Given the description of an element on the screen output the (x, y) to click on. 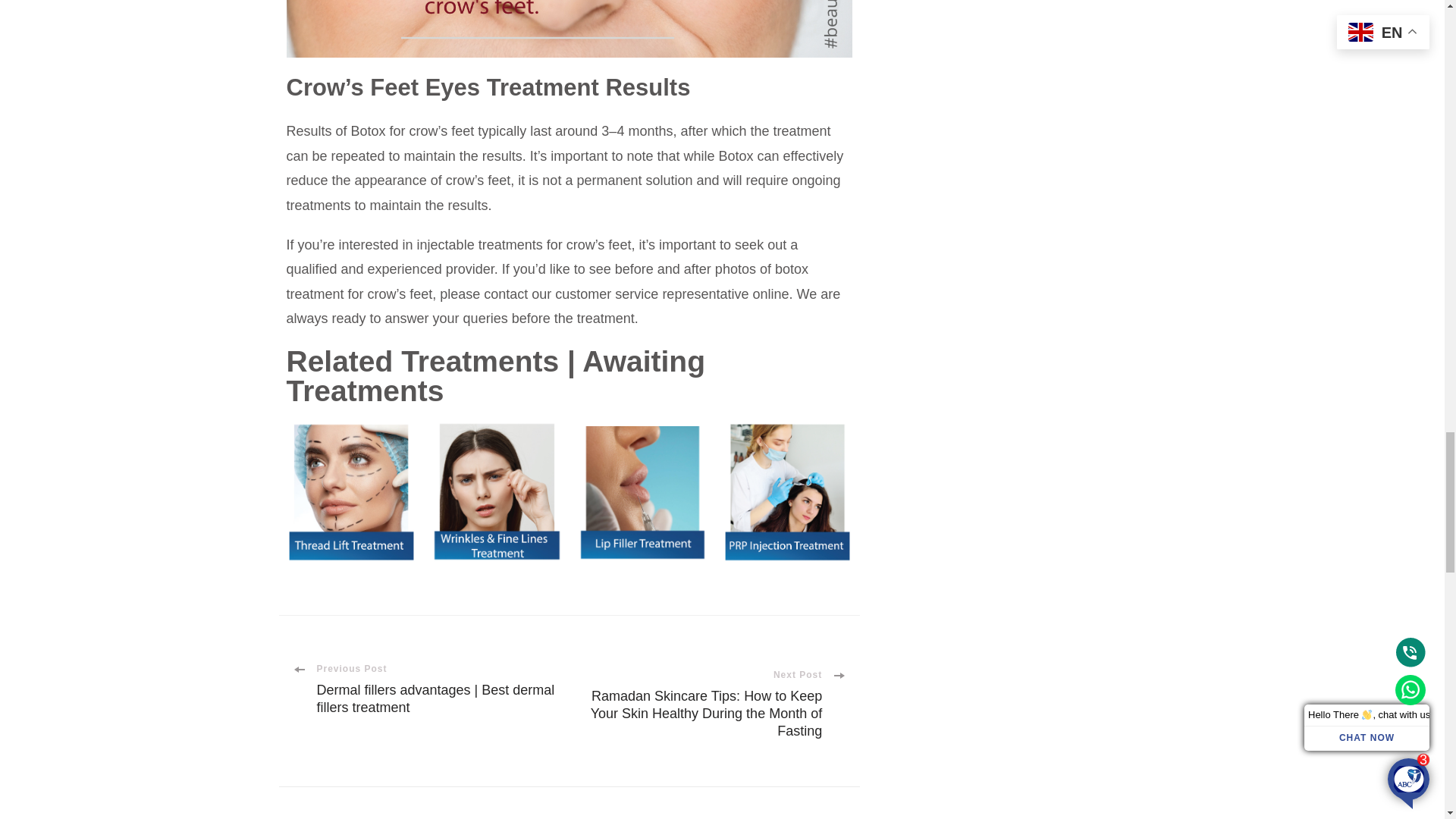
Crows-feet-1 (569, 28)
